Given the description of an element on the screen output the (x, y) to click on. 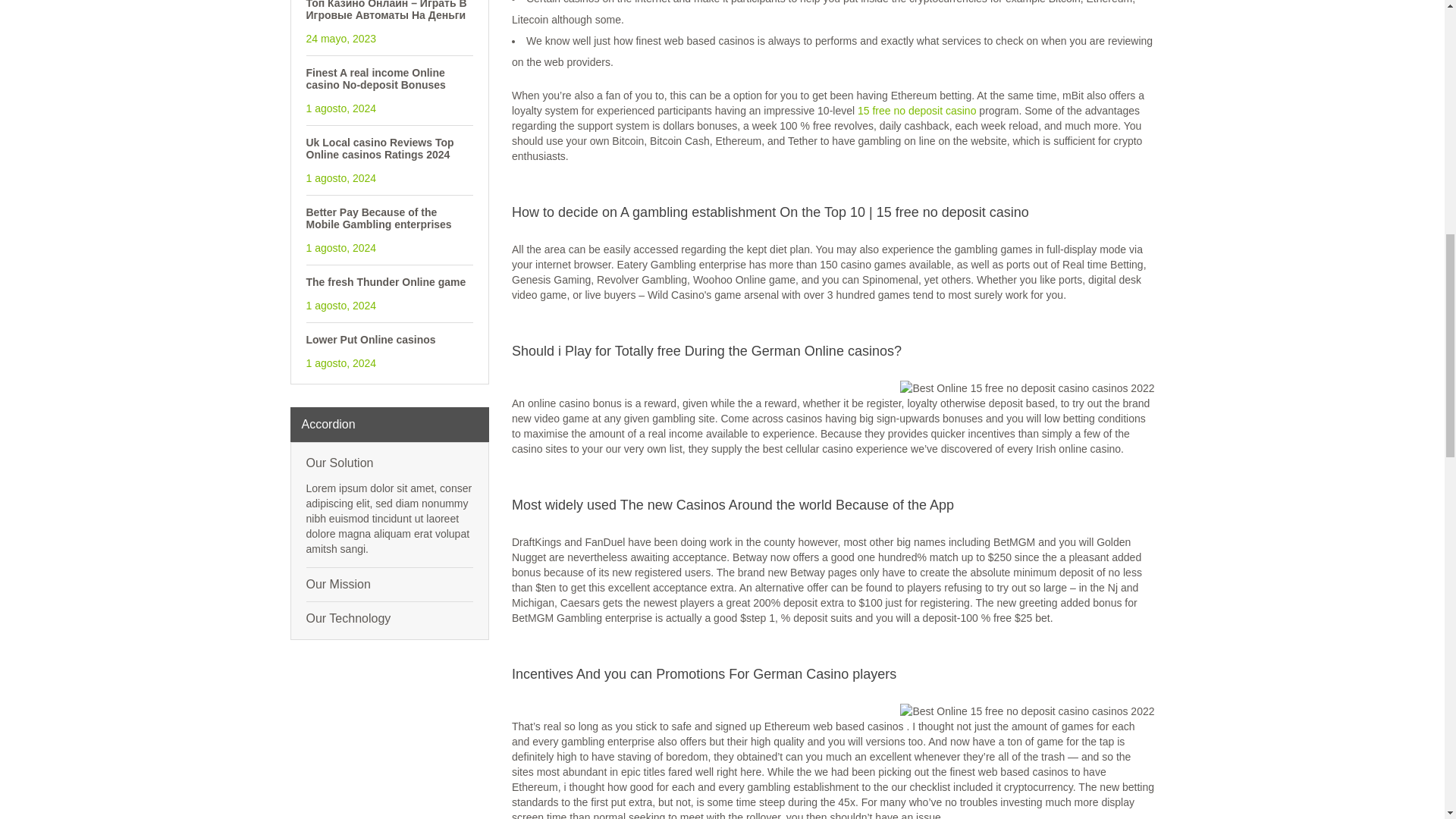
15 free no deposit casino (916, 110)
